Given the description of an element on the screen output the (x, y) to click on. 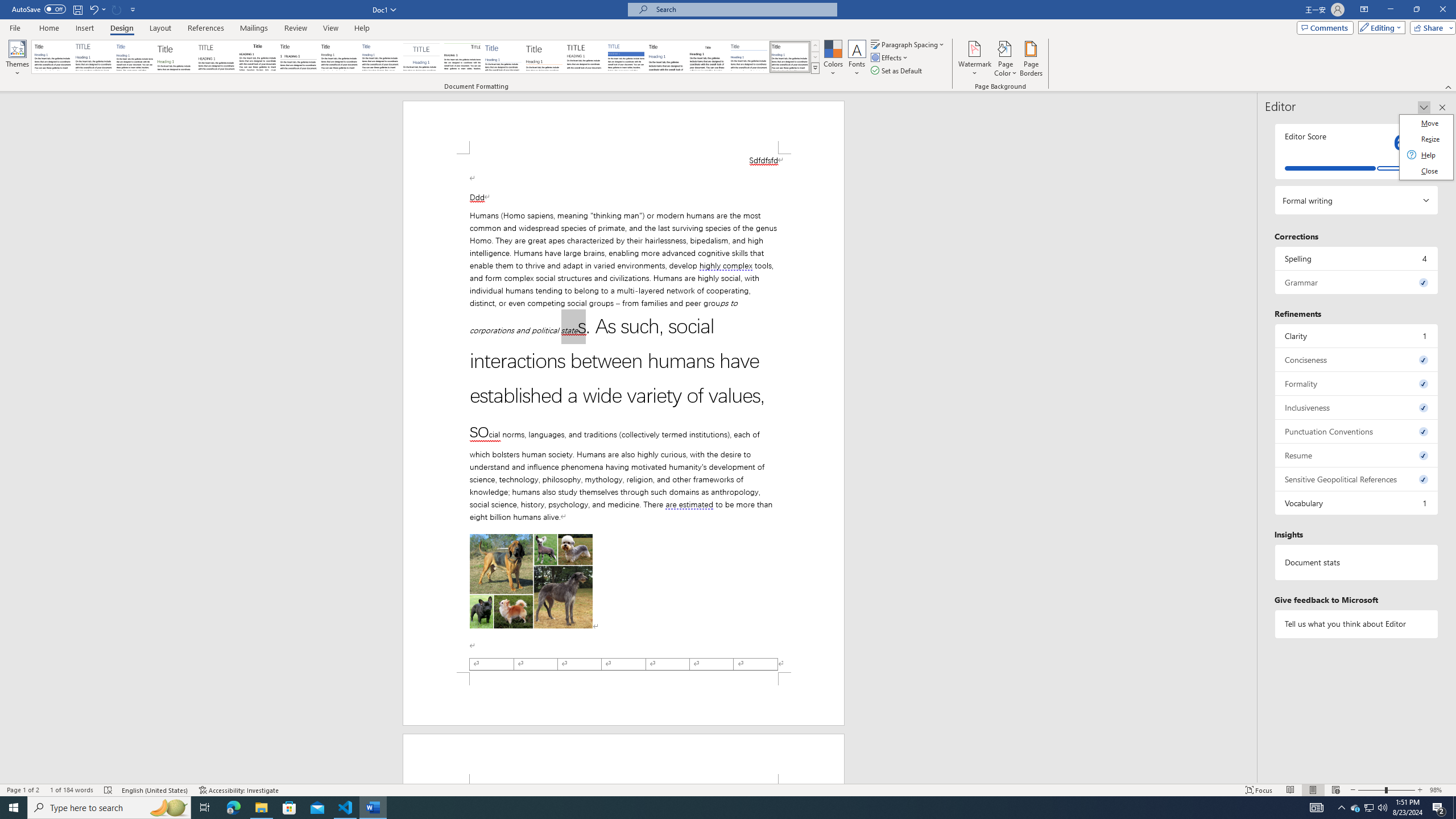
Word 2013 (790, 56)
Black & White (Numbered) (298, 56)
Formality, 0 issues. Press space or enter to review items. (1356, 383)
Watermark (974, 58)
Themes (17, 58)
